Given the description of an element on the screen output the (x, y) to click on. 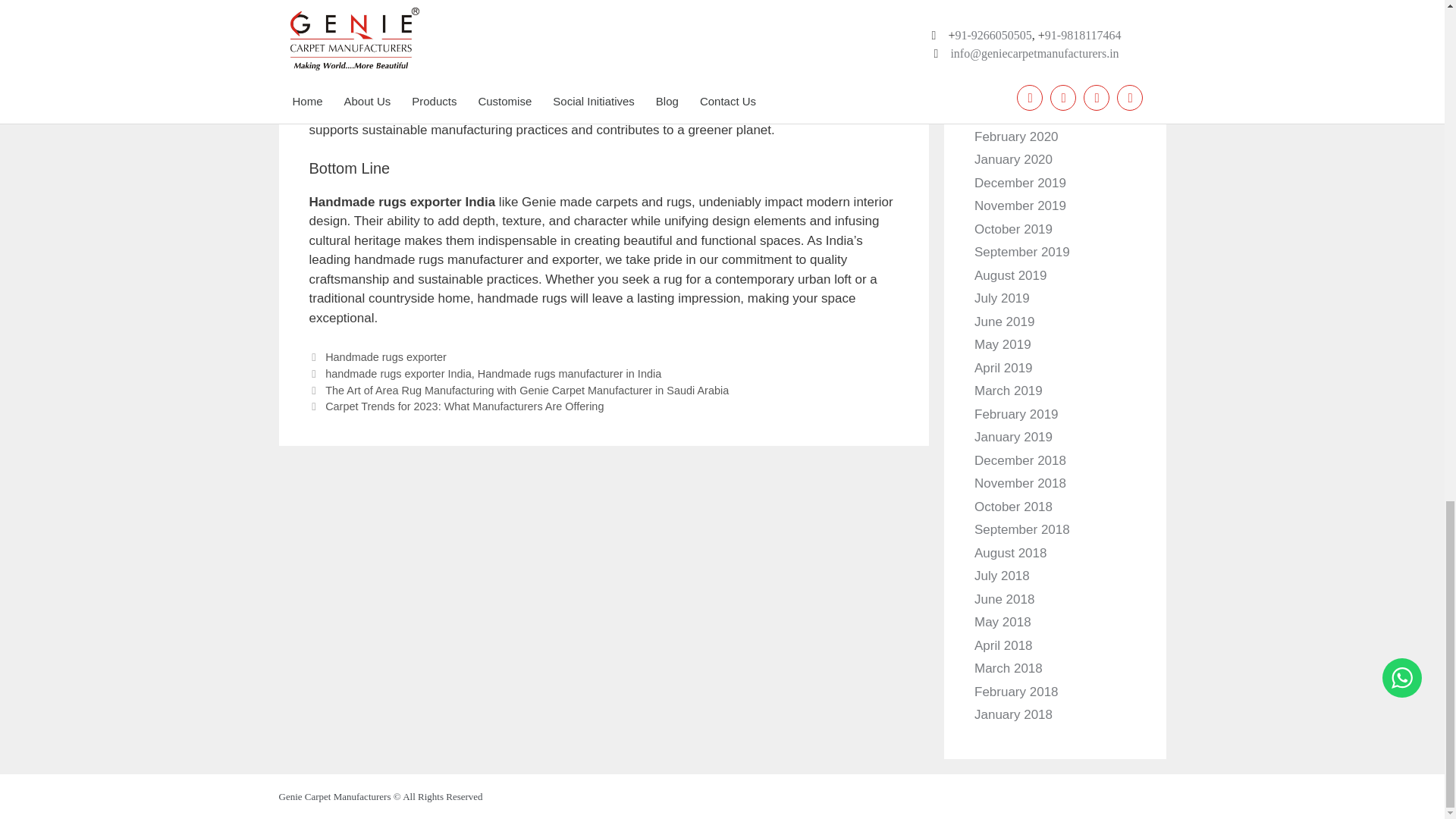
Scroll back to top (1406, 199)
